Given the description of an element on the screen output the (x, y) to click on. 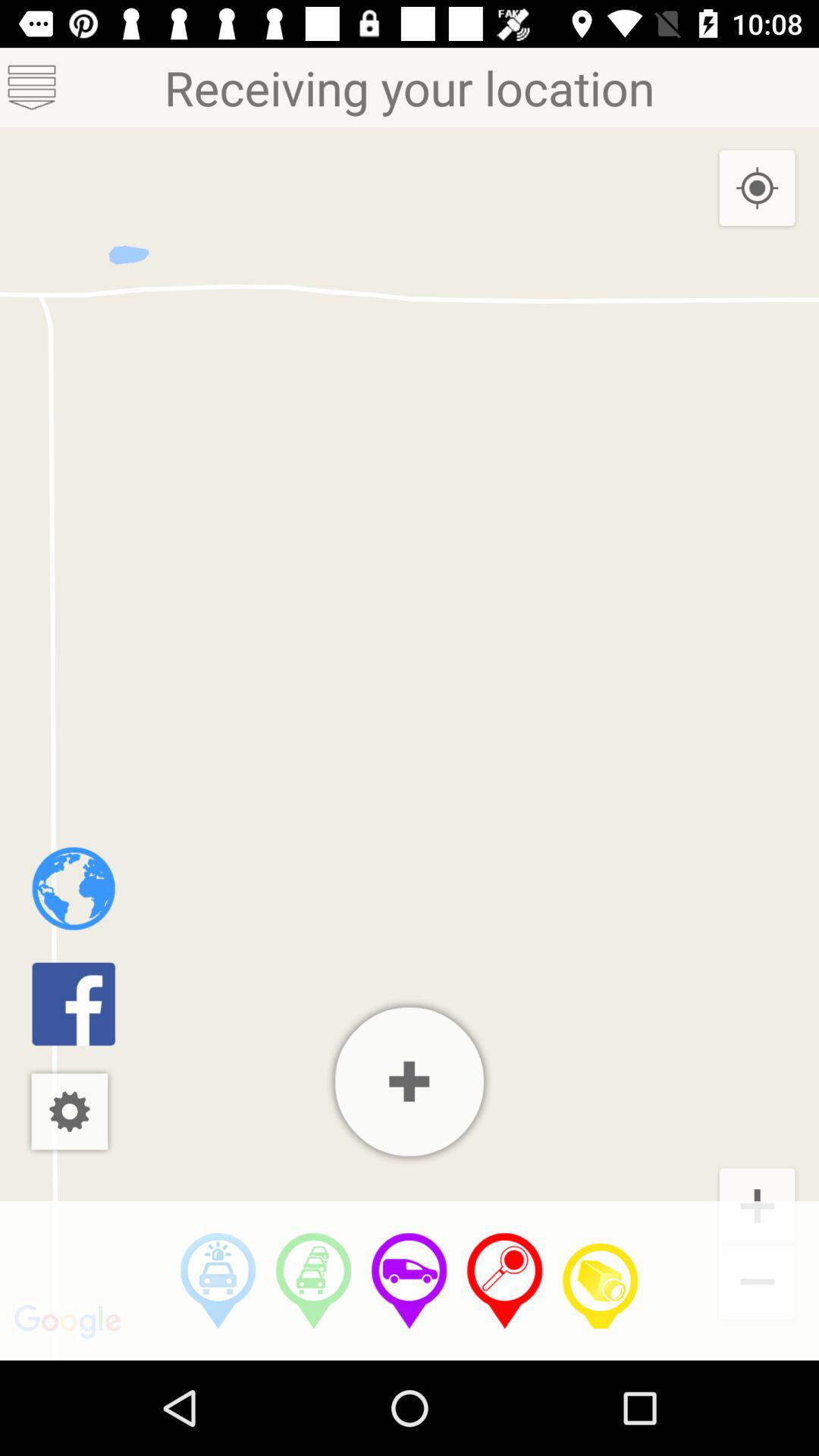
turn off app below receiving your location (409, 1081)
